Given the description of an element on the screen output the (x, y) to click on. 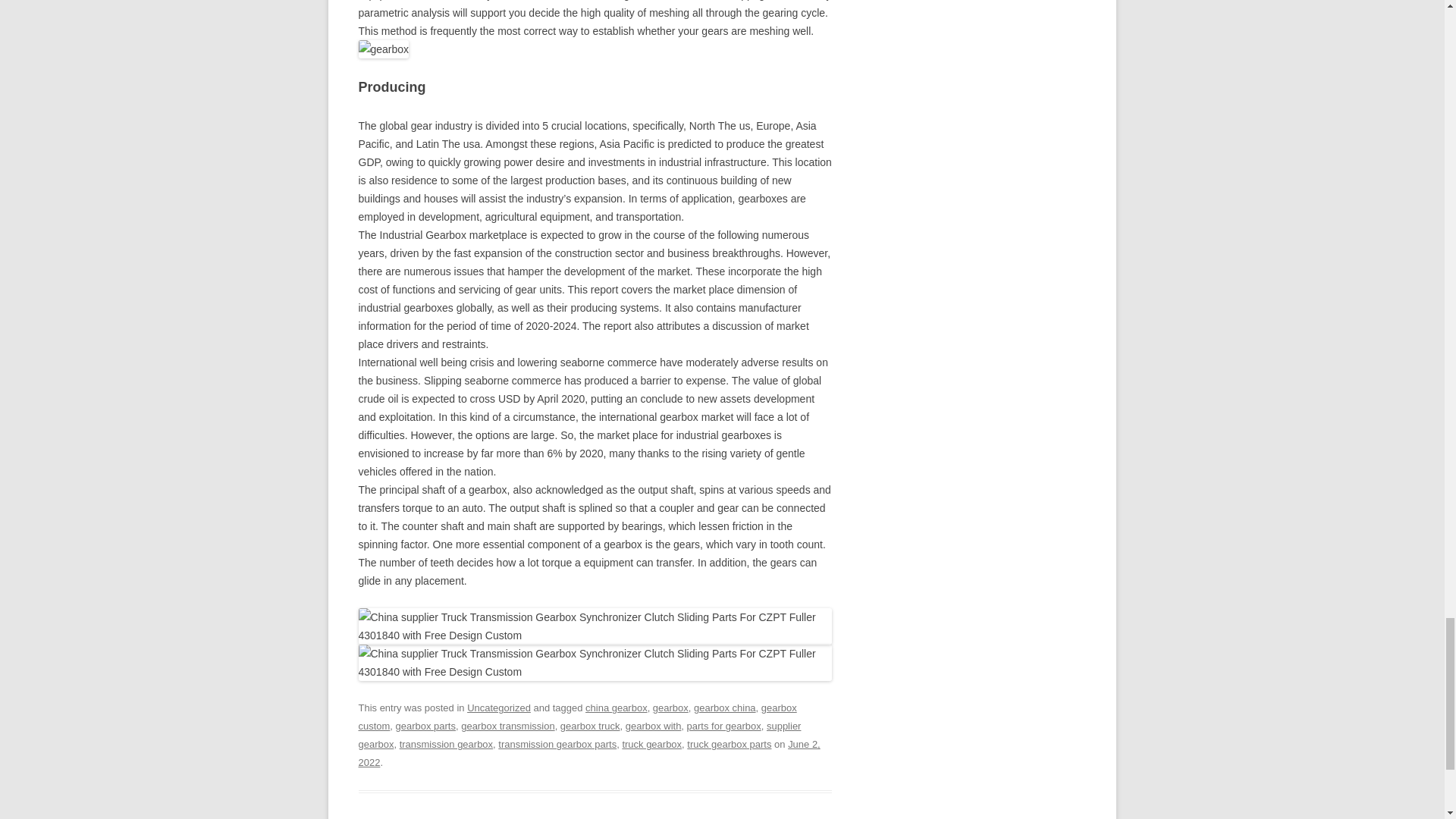
gearbox custom (577, 716)
transmission gearbox (445, 744)
Uncategorized (499, 707)
truck gearbox parts (729, 744)
truck gearbox (651, 744)
June 2, 2022 (588, 753)
china gearbox (616, 707)
gearbox (670, 707)
gearbox transmission (507, 726)
gearbox parts (425, 726)
gearbox truck (590, 726)
8:31 pm (588, 753)
parts for gearbox (724, 726)
transmission gearbox parts (556, 744)
gearbox china (724, 707)
